Given the description of an element on the screen output the (x, y) to click on. 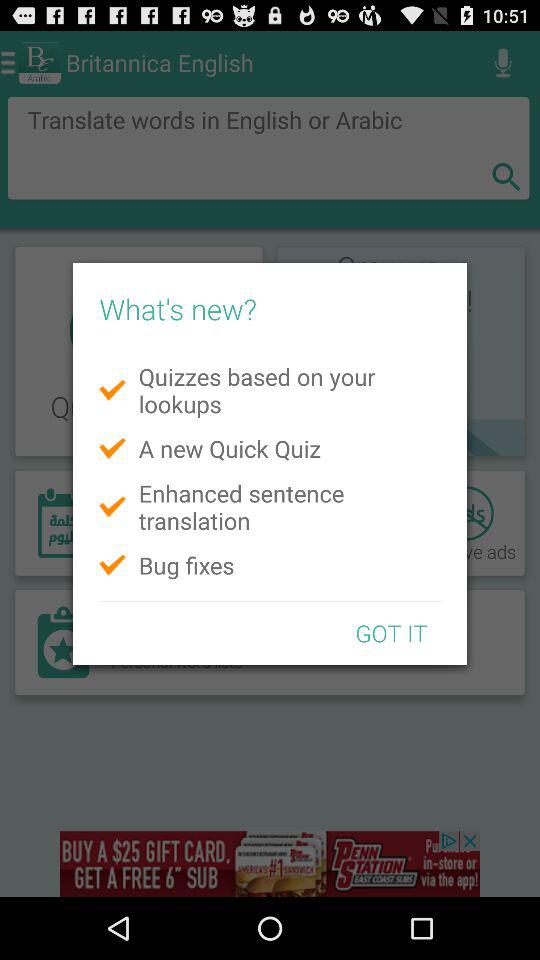
click app on the right (391, 632)
